Given the description of an element on the screen output the (x, y) to click on. 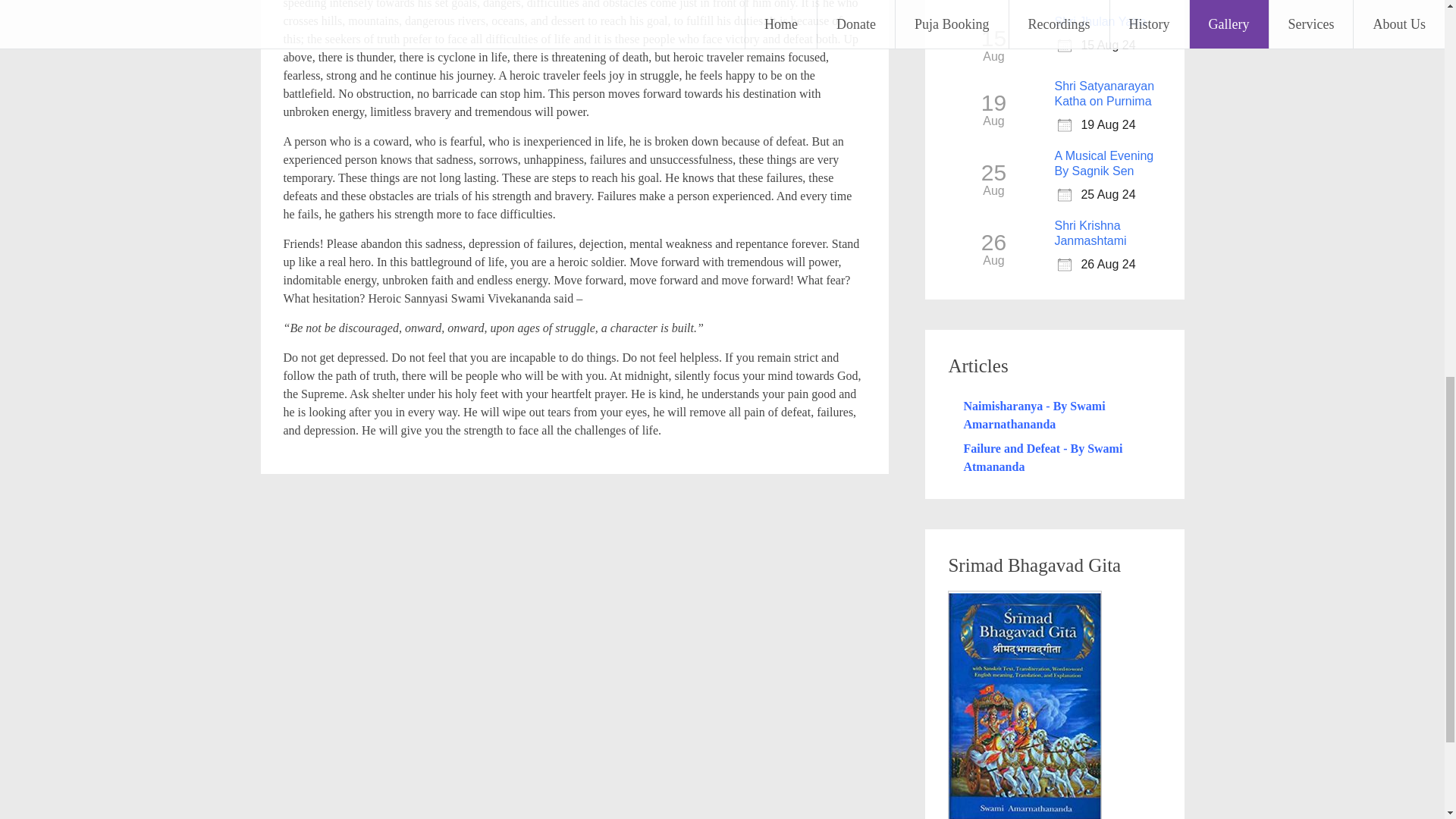
Naimisharanya - By Swami Amarnathananda (1033, 414)
Failure and Defeat - By Swami Atmananda (1042, 457)
Shri Jhulan Yatra (1099, 21)
Shri Satyanarayan Katha on Purnima (1104, 93)
Shri Krishna Janmashtami (1089, 233)
A Musical Evening By Sagnik Sen (1103, 163)
